Given the description of an element on the screen output the (x, y) to click on. 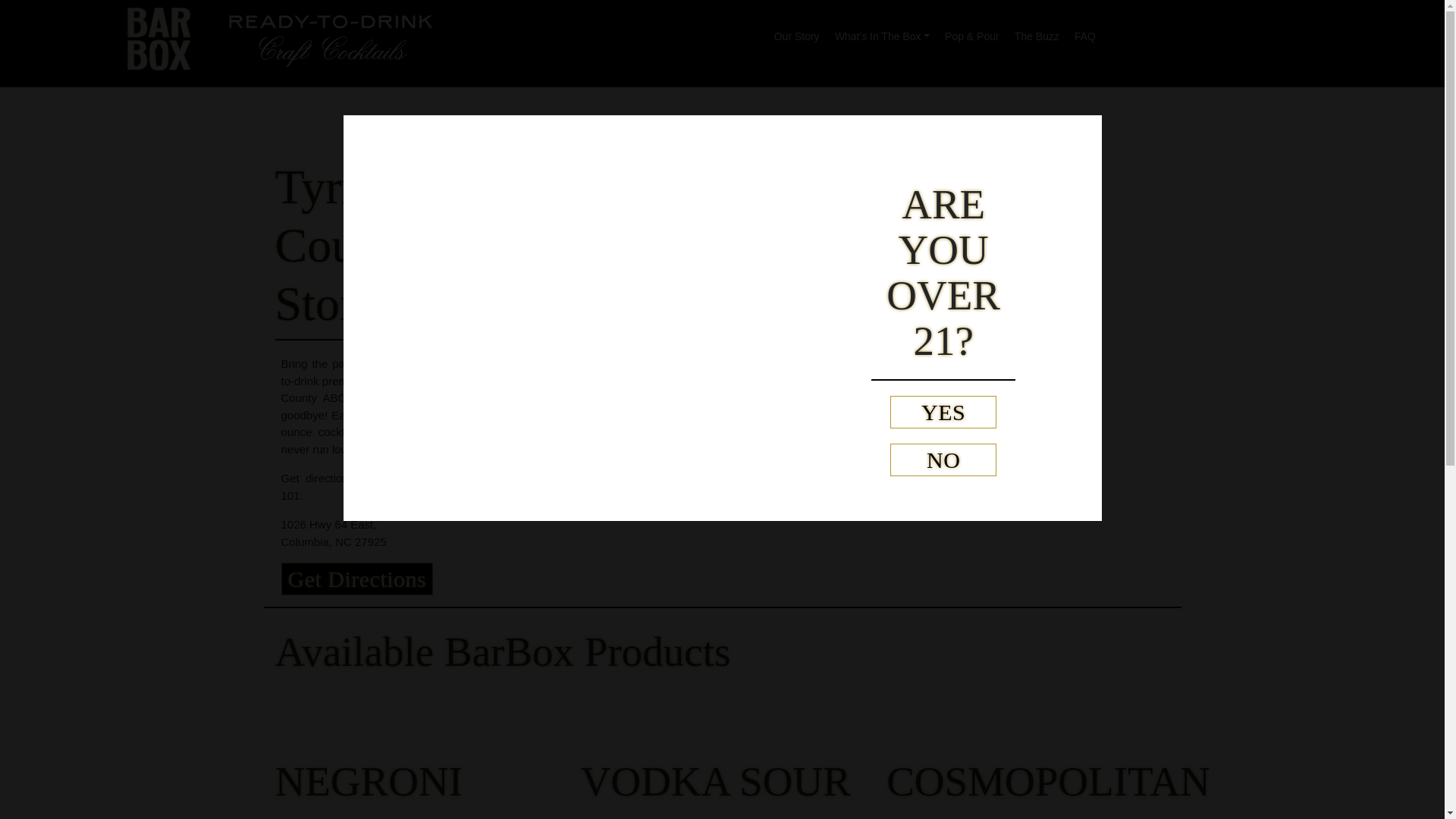
NEGRONI (368, 781)
BarBox on Facebook (1246, 32)
COSMOPOLITAN (1047, 781)
FAQ (1085, 32)
YES (942, 411)
BarBox on Instagram (1169, 32)
BarBox on Twitter (1160, 65)
The Buzz (1037, 32)
VODKA SOUR (715, 781)
Get Directions (356, 578)
Our Story (797, 32)
NO (942, 459)
